Given the description of an element on the screen output the (x, y) to click on. 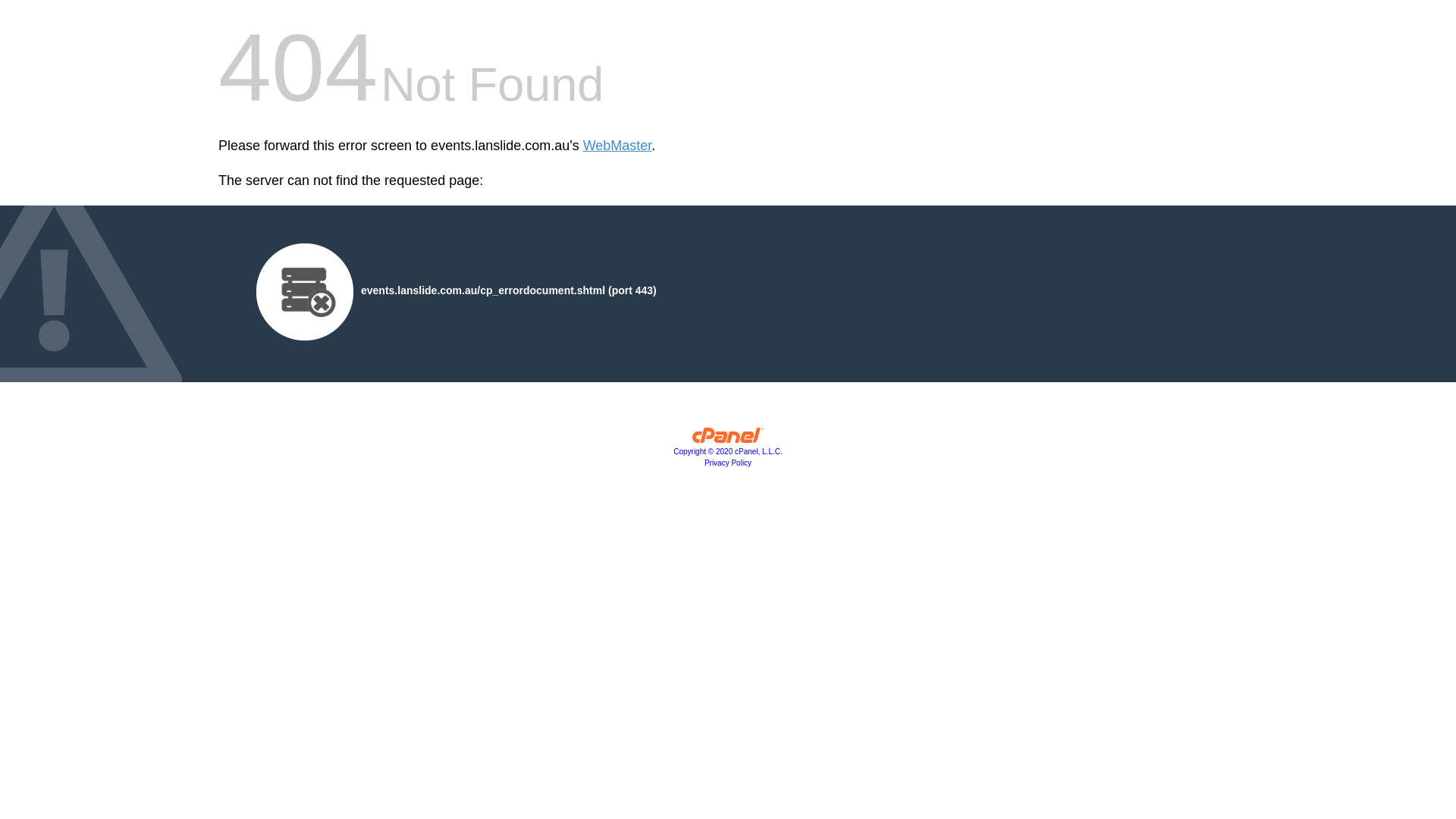
Privacy Policy Element type: text (727, 462)
cPanel, Inc. Element type: hover (728, 439)
WebMaster Element type: text (617, 145)
